Given the description of an element on the screen output the (x, y) to click on. 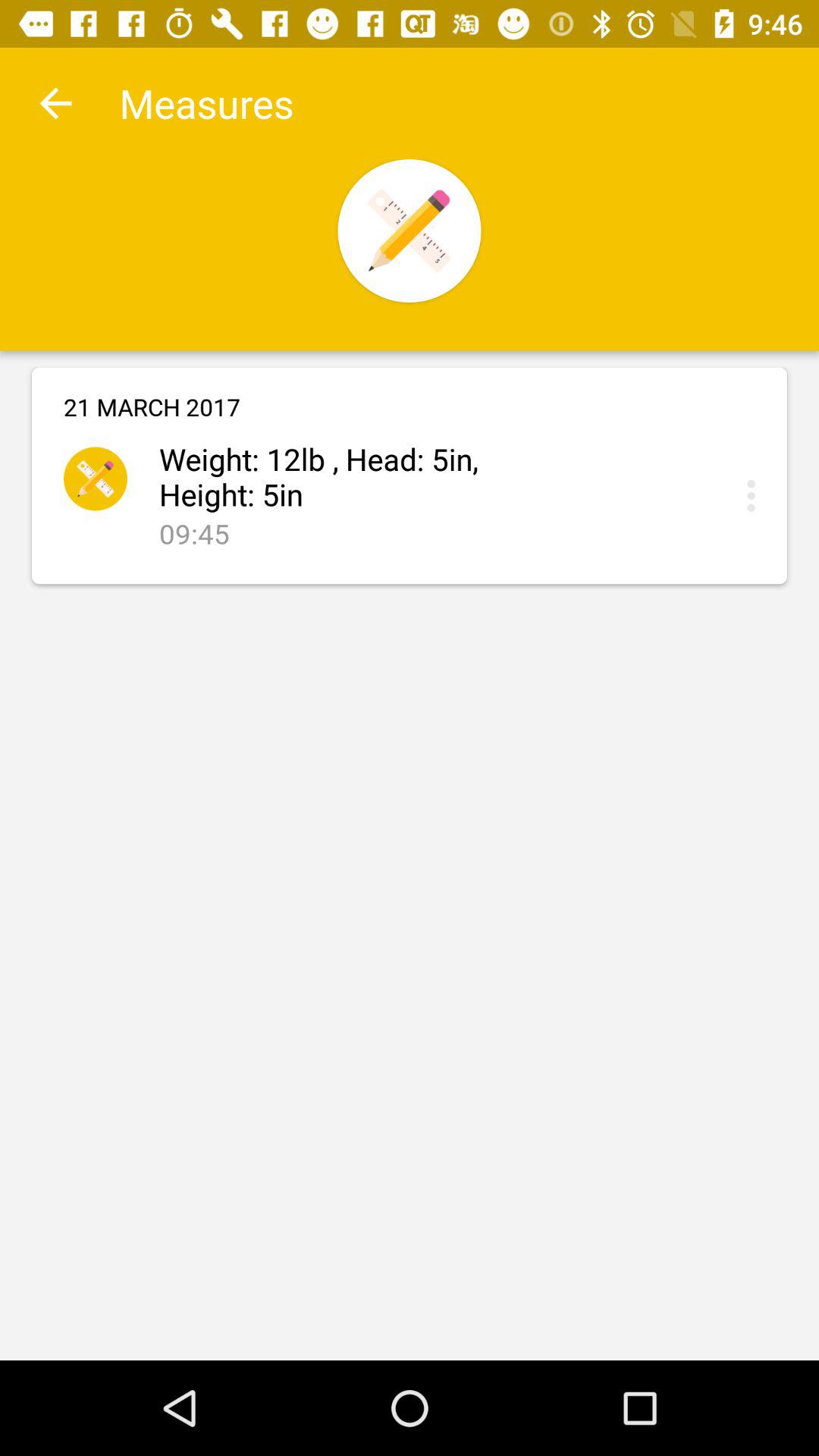
press to submit (755, 495)
